Given the description of an element on the screen output the (x, y) to click on. 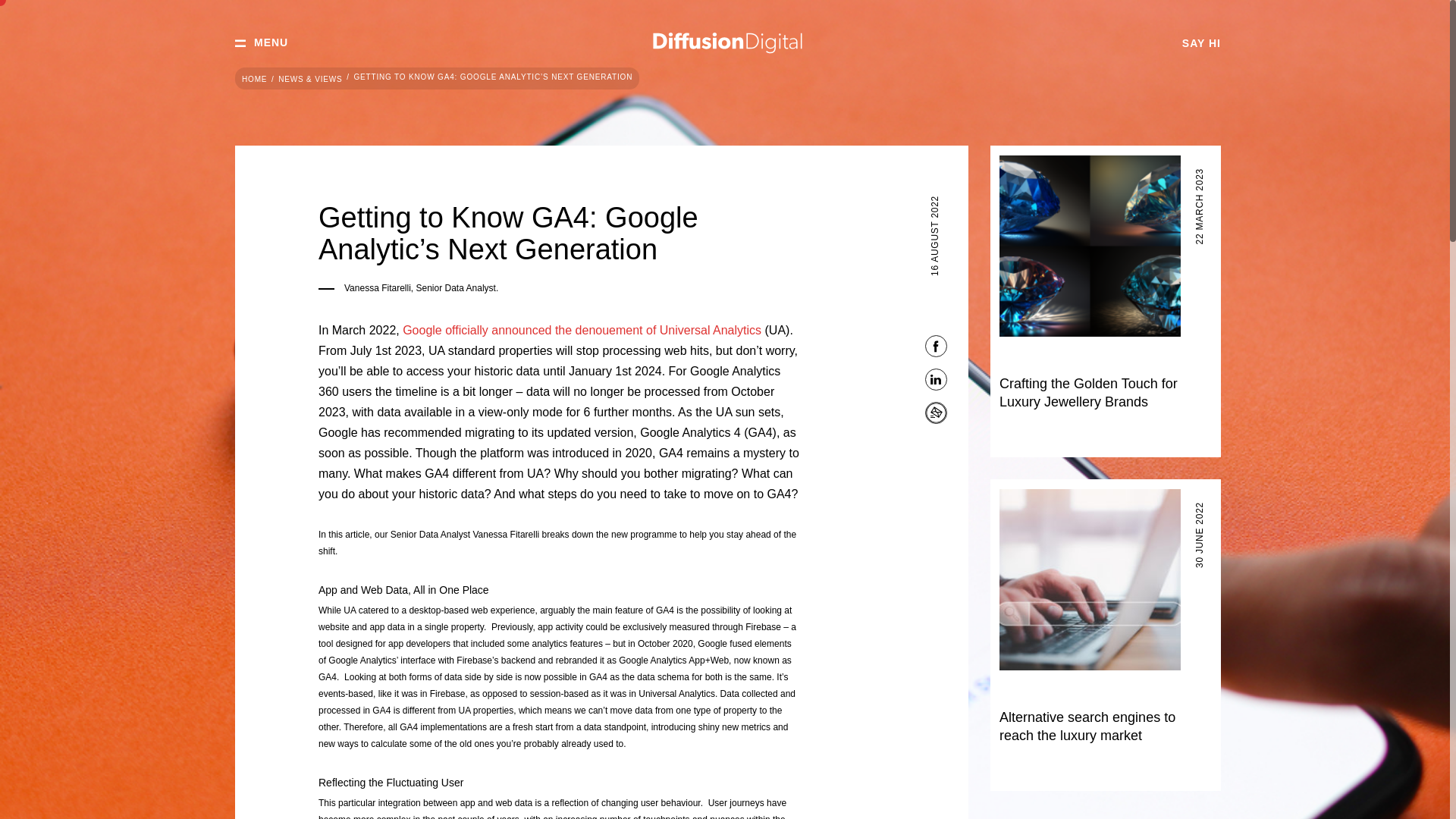
MENU (261, 43)
SAY HI (1201, 42)
HOME (253, 79)
